Given the description of an element on the screen output the (x, y) to click on. 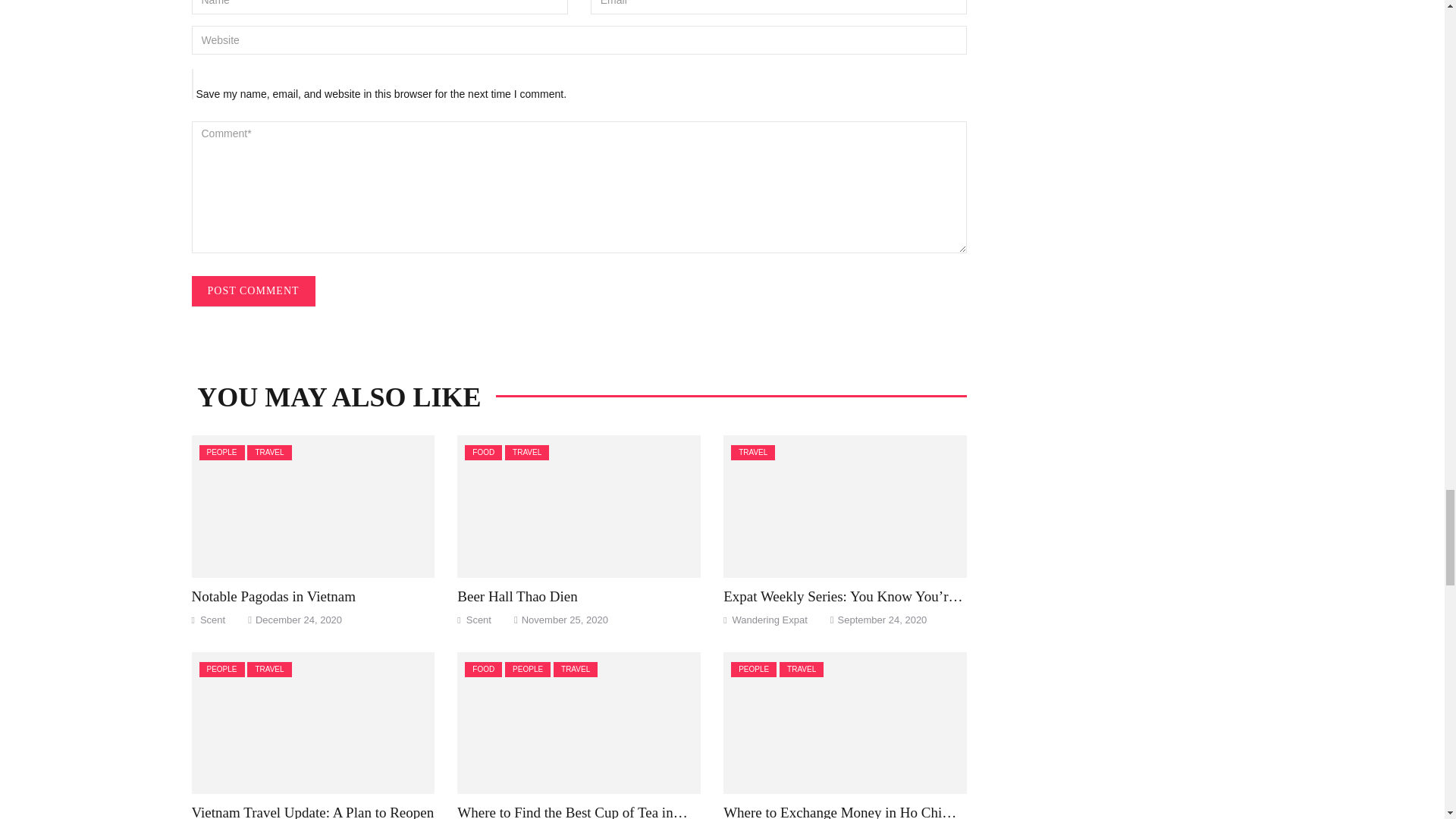
Post Comment (252, 291)
Post Comment (252, 291)
